Given the description of an element on the screen output the (x, y) to click on. 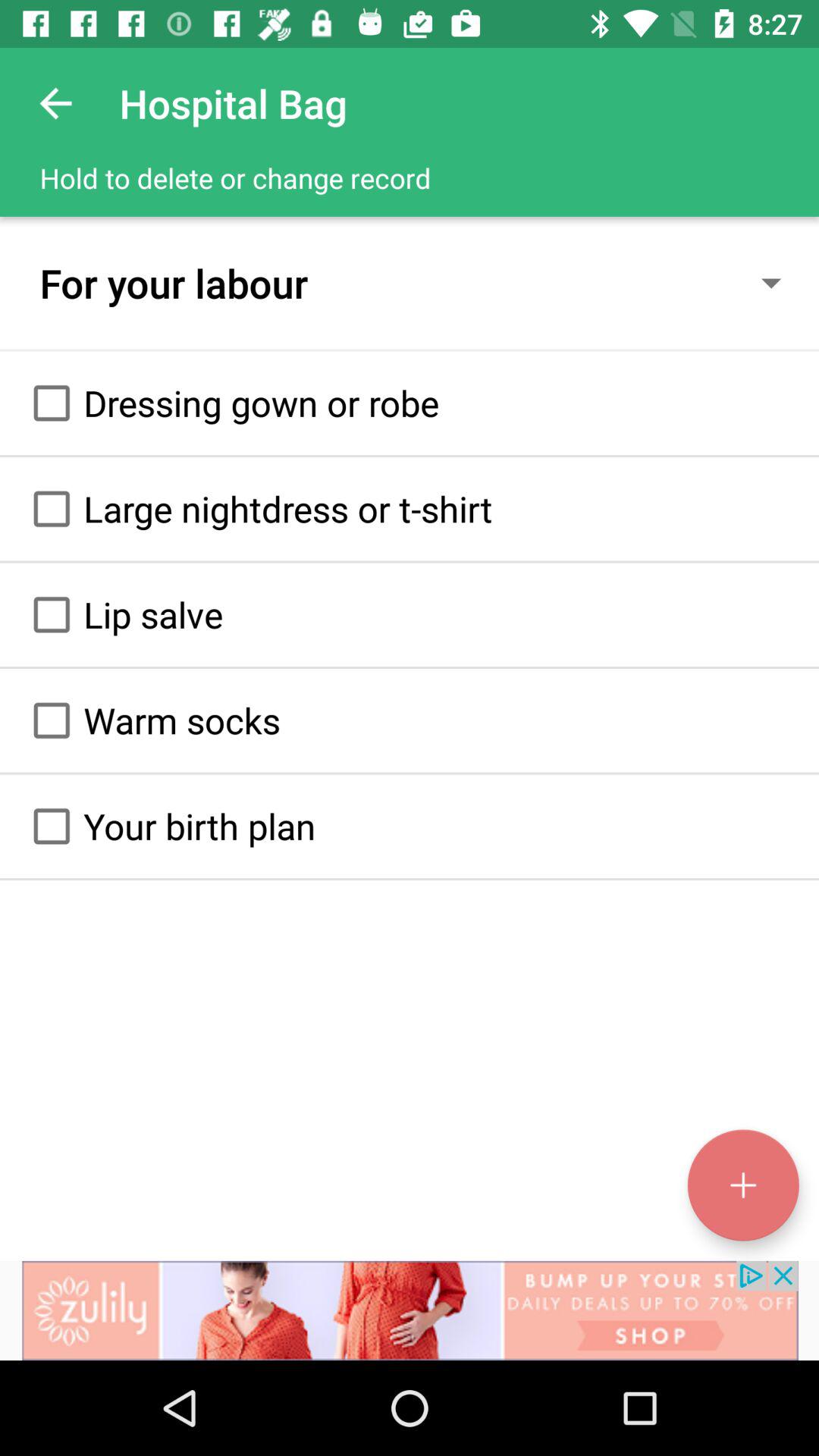
click here to go to the required item (51, 403)
